Given the description of an element on the screen output the (x, y) to click on. 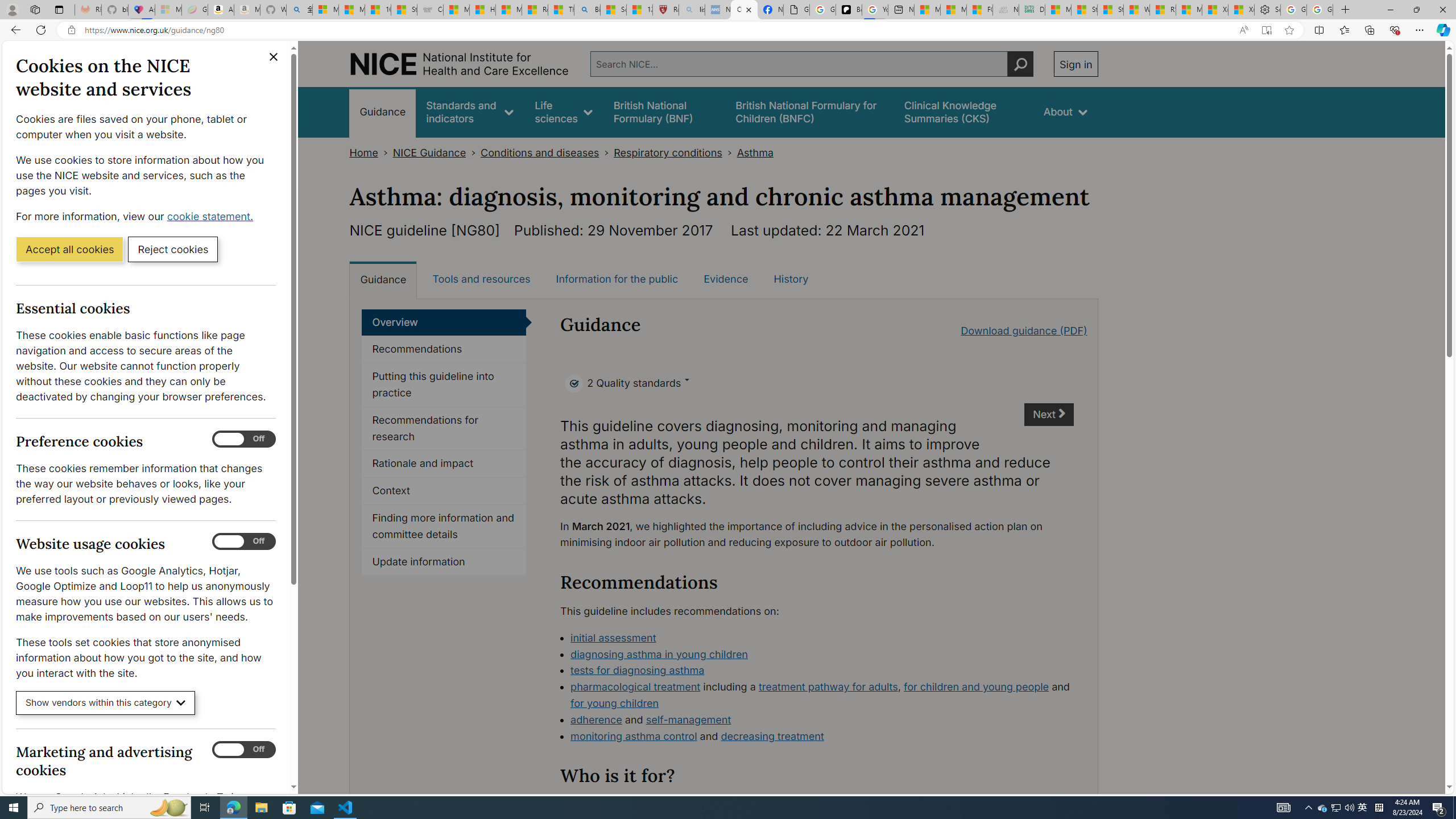
tests for diagnosing asthma (822, 670)
DITOGAMES AG Imprint (1031, 9)
Recommendations for research (443, 428)
Next chapter (1049, 414)
Information for the public (617, 279)
Sign in (1074, 63)
How I Got Rid of Microsoft Edge's Unnecessary Features (482, 9)
Tools and resources (481, 279)
Context (444, 491)
